Given the description of an element on the screen output the (x, y) to click on. 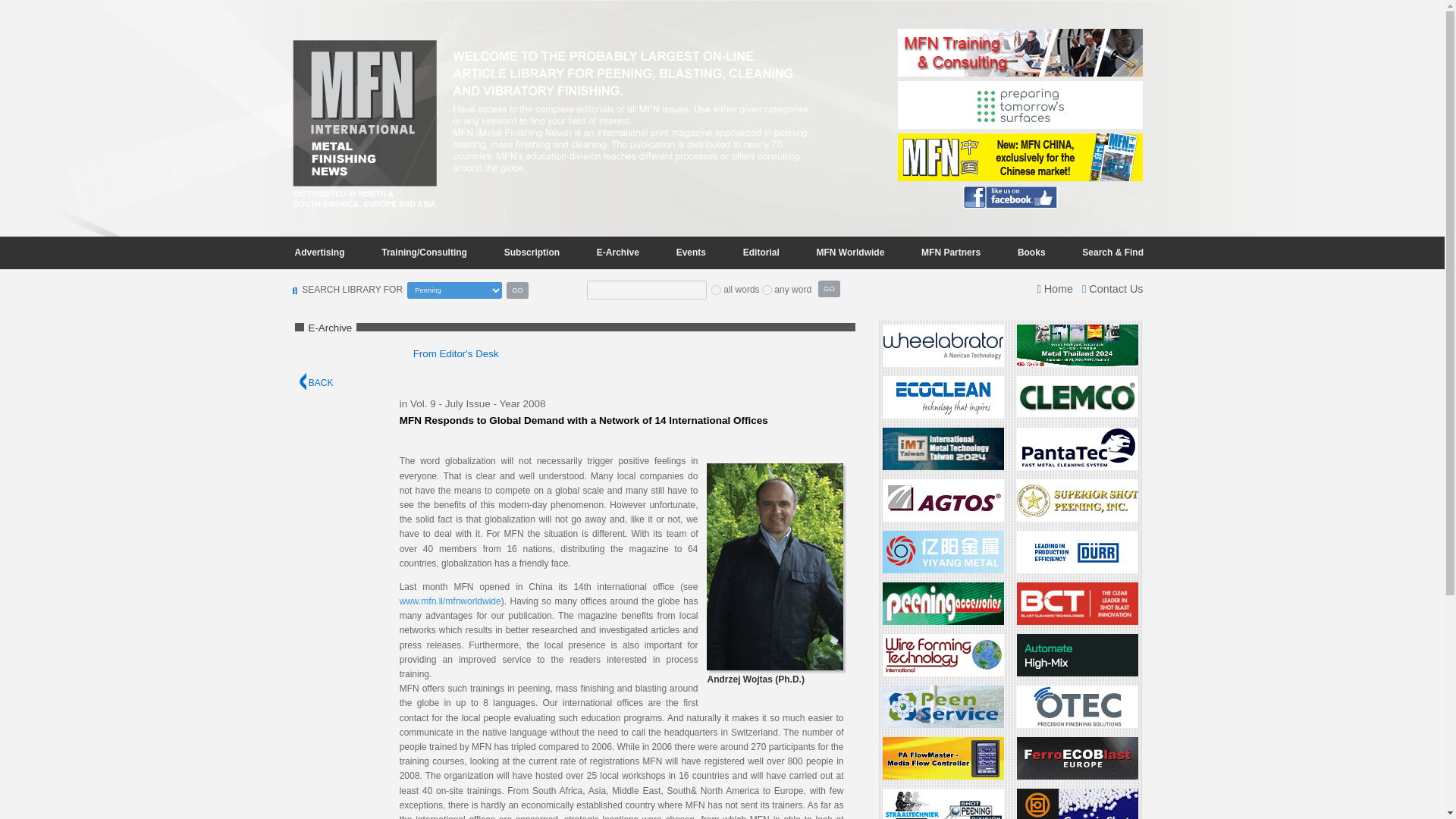
Books (1031, 252)
Contact Us (1111, 288)
E-Archive (617, 252)
Advertising (319, 252)
Events (690, 252)
GO (517, 289)
Subscription (531, 252)
Home (1054, 288)
OR (766, 289)
AND (715, 289)
MFN Worldwide (850, 252)
BACK (315, 382)
Editorial (761, 252)
GO (829, 288)
MFN Partners (951, 252)
